Given the description of an element on the screen output the (x, y) to click on. 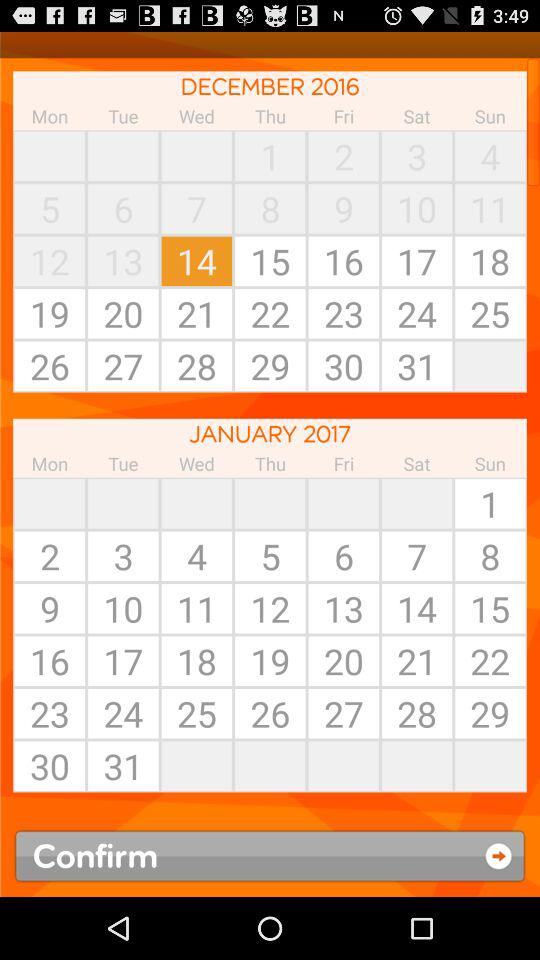
launch december 2016 (269, 86)
